Given the description of an element on the screen output the (x, y) to click on. 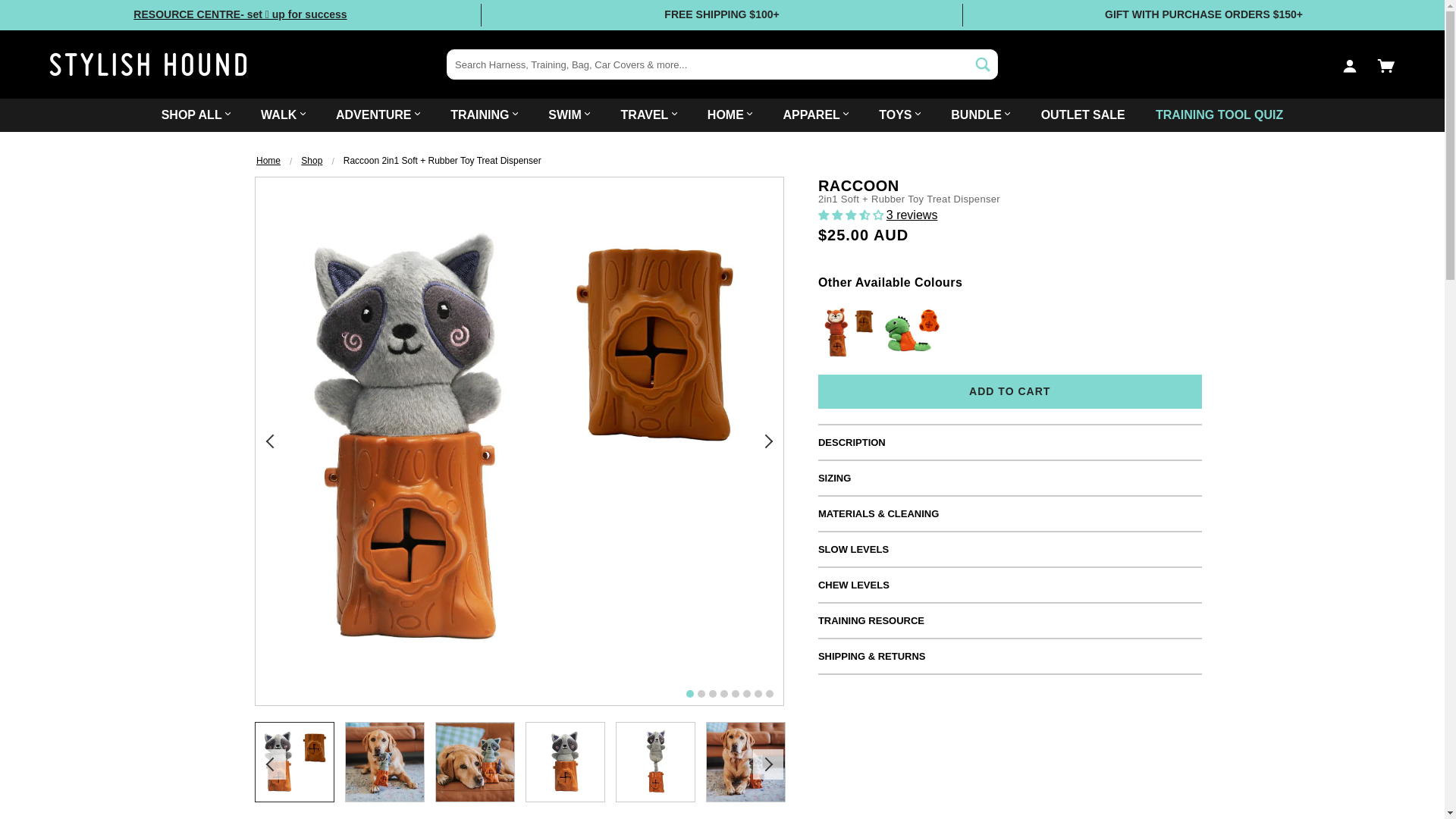
RESOURCE CENTRE (239, 14)
Add to Cart (1010, 391)
Stylish Hound (721, 63)
